Given the description of an element on the screen output the (x, y) to click on. 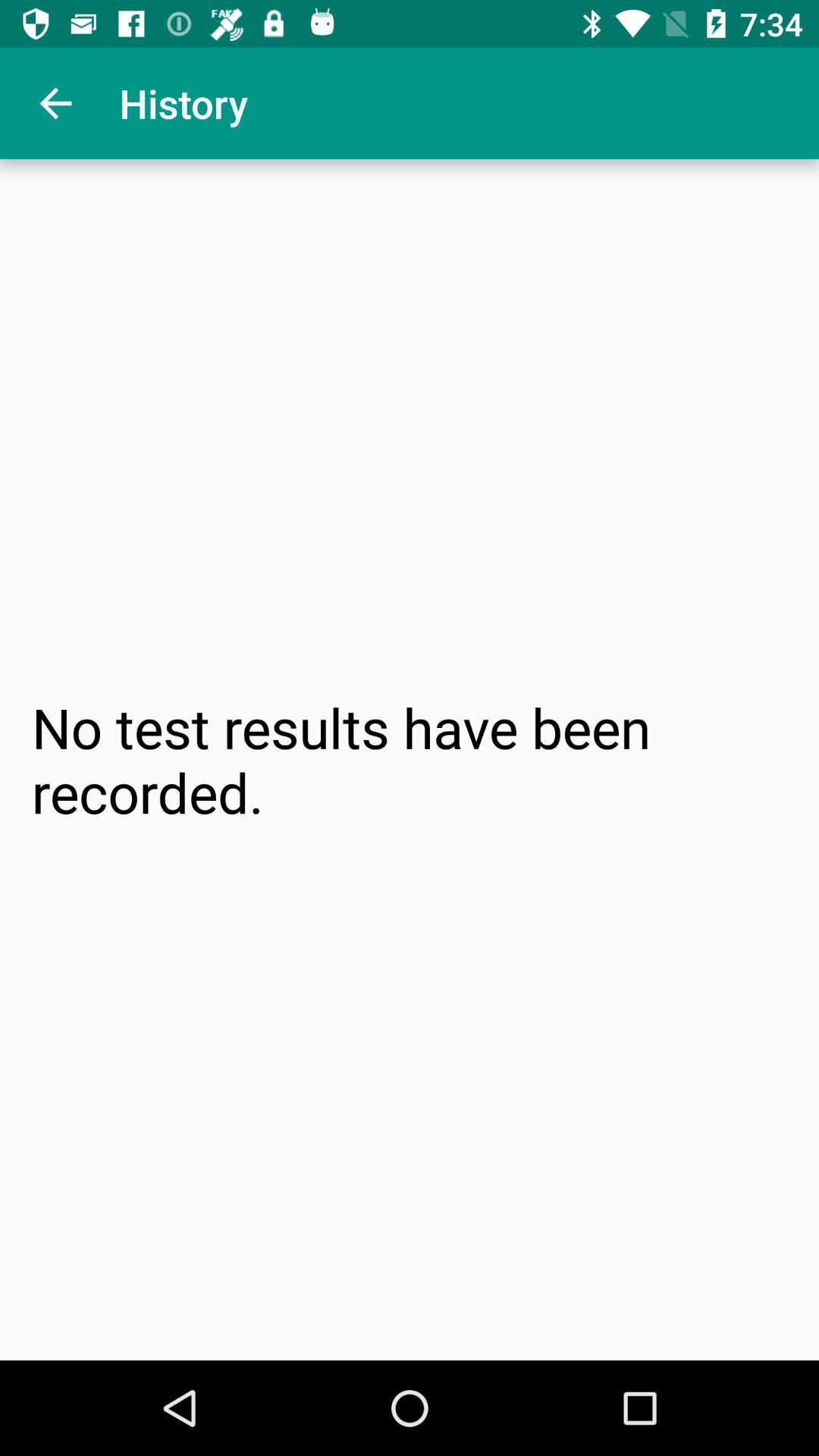
choose the item above no test results (55, 103)
